Given the description of an element on the screen output the (x, y) to click on. 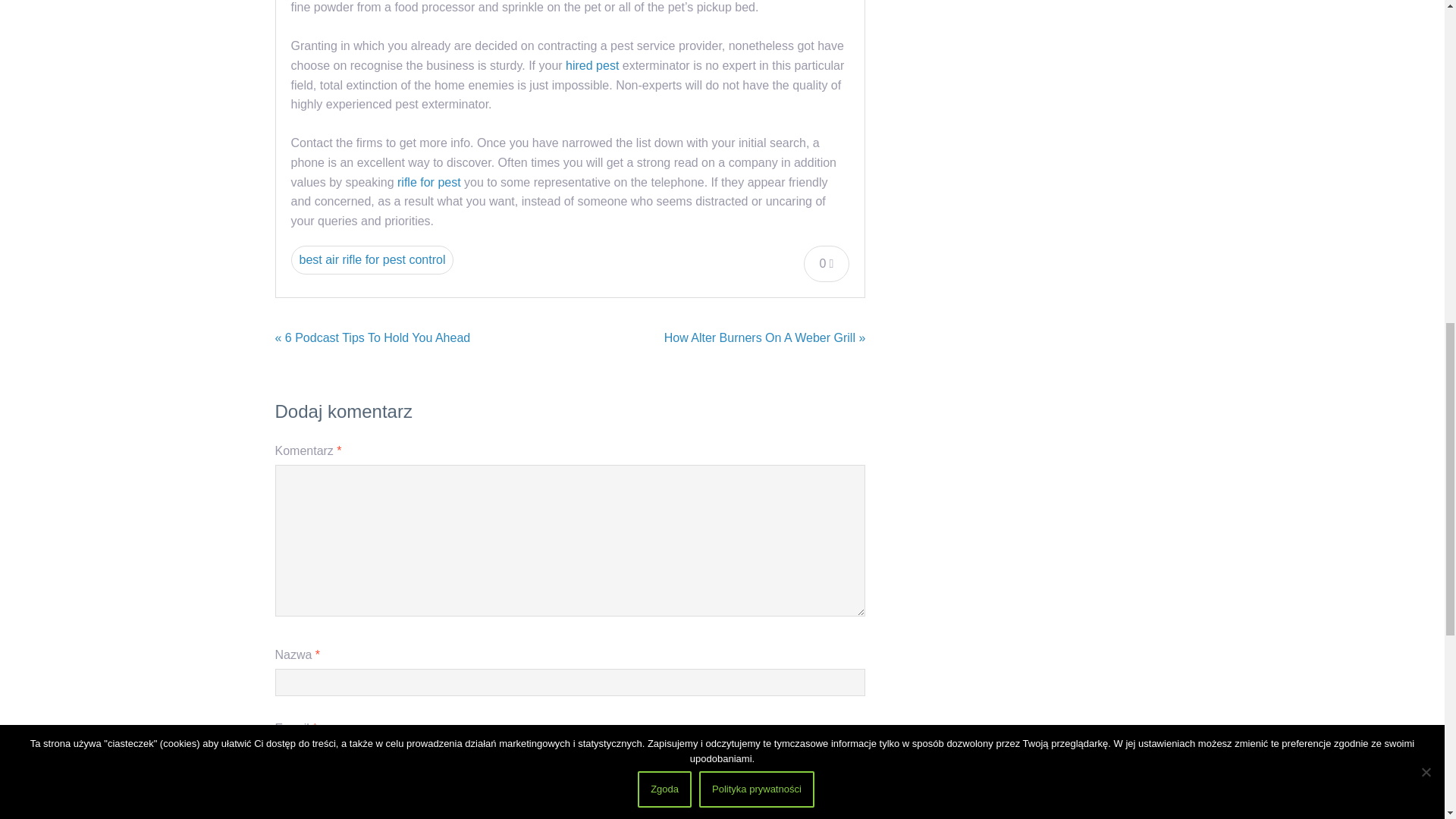
rifle for pest (429, 182)
best air rifle for pest control (372, 259)
hired pest (592, 65)
0 (826, 263)
